Given the description of an element on the screen output the (x, y) to click on. 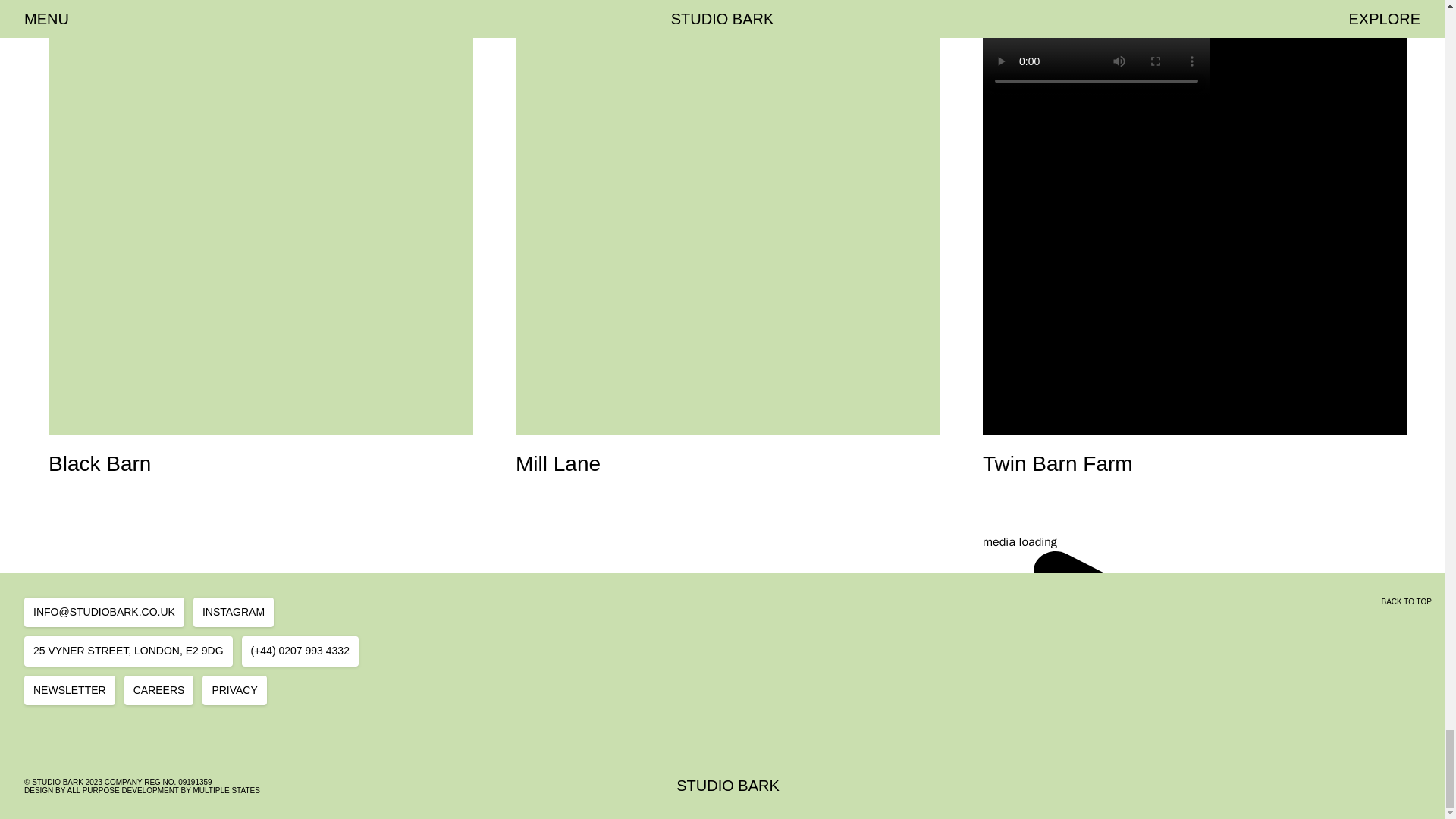
MULTIPLE STATES (225, 790)
PRIVACY (234, 689)
CAREERS (158, 689)
STUDIO BARK (128, 650)
INSTAGRAM (727, 785)
NEWSLETTER (233, 612)
